Given the description of an element on the screen output the (x, y) to click on. 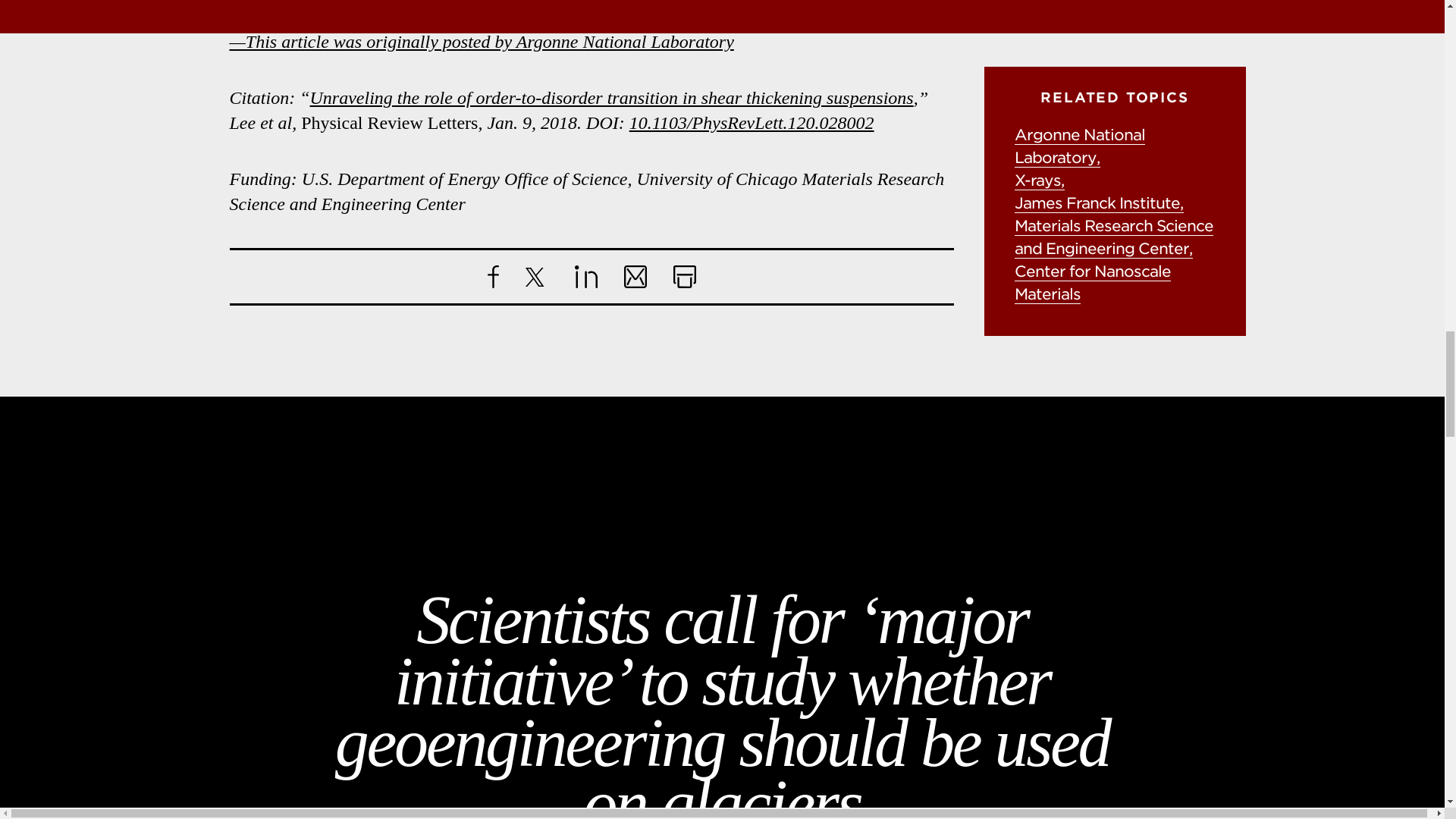
LinkedIn (585, 276)
Print Content (683, 276)
Share as an Email (634, 276)
X (535, 276)
Share to Facebook (491, 276)
